Given the description of an element on the screen output the (x, y) to click on. 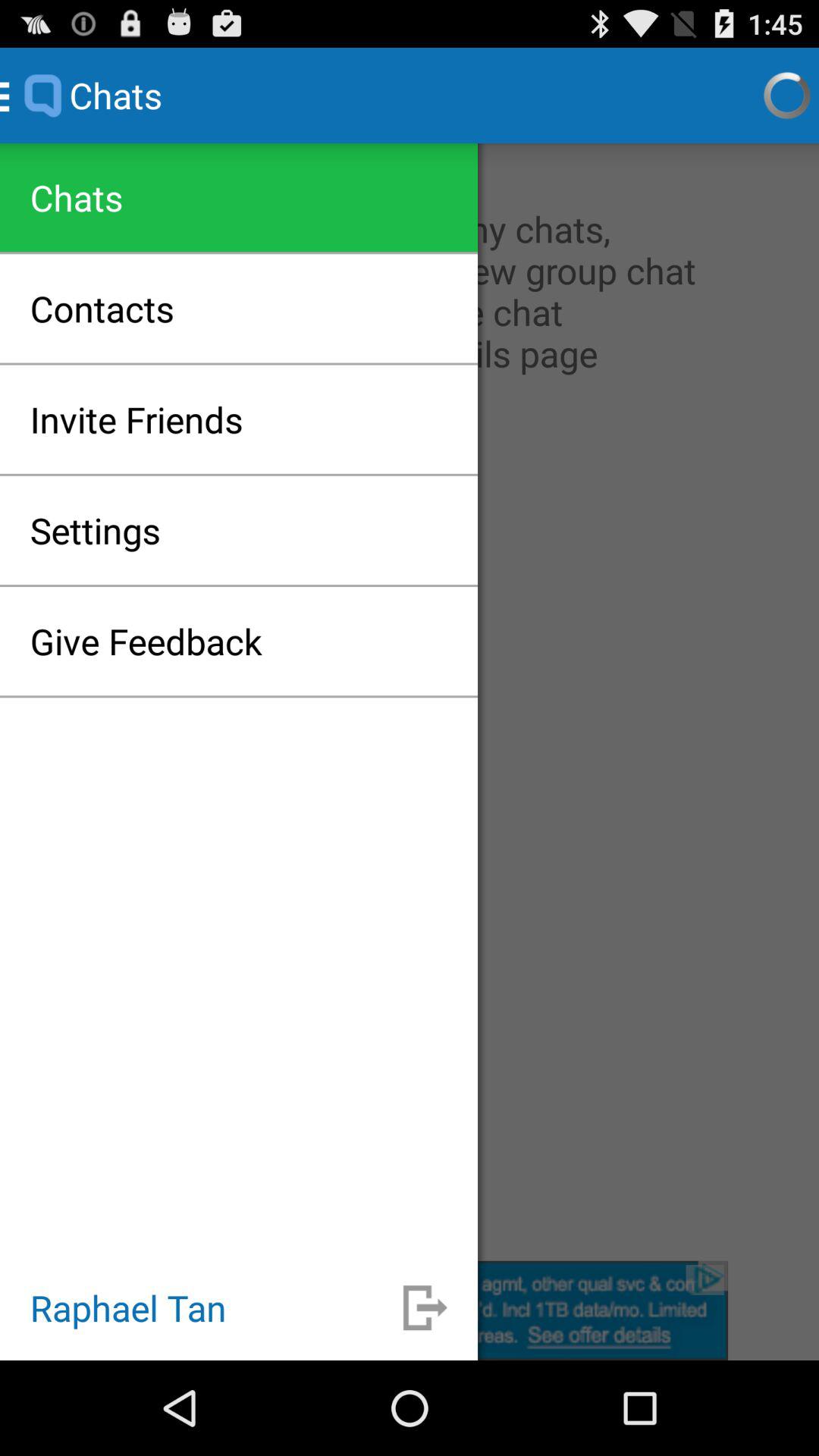
exit app button (425, 1307)
